Given the description of an element on the screen output the (x, y) to click on. 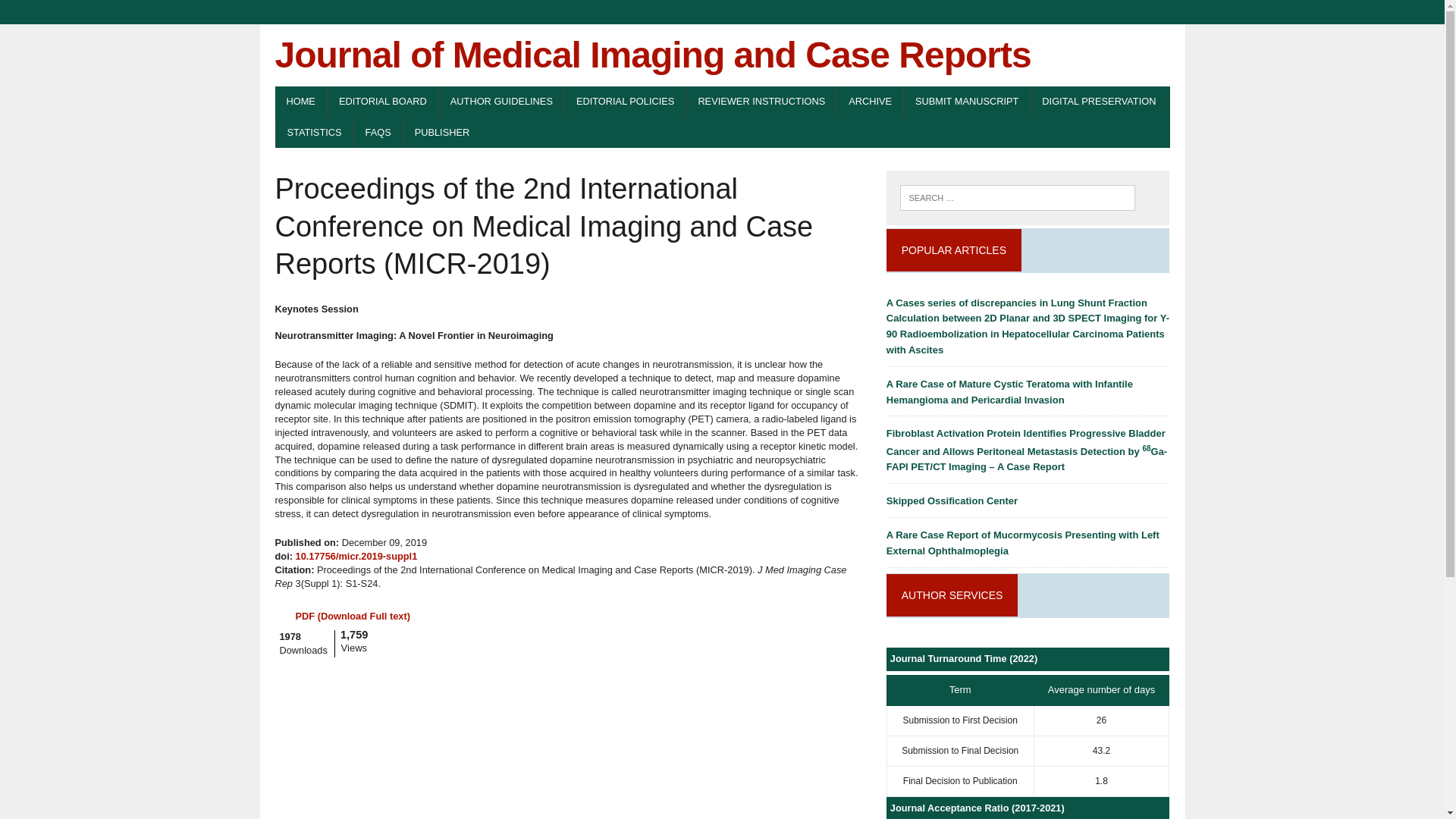
HOME (300, 101)
FAQS (378, 132)
Journal of Medical Imaging and Case Reports (722, 54)
DIGITAL PRESERVATION (1098, 101)
Skipped Ossification Center (951, 500)
Search for: (1016, 197)
EDITORIAL BOARD (382, 101)
Search (75, 14)
AUTHOR GUIDELINES (501, 101)
